Given the description of an element on the screen output the (x, y) to click on. 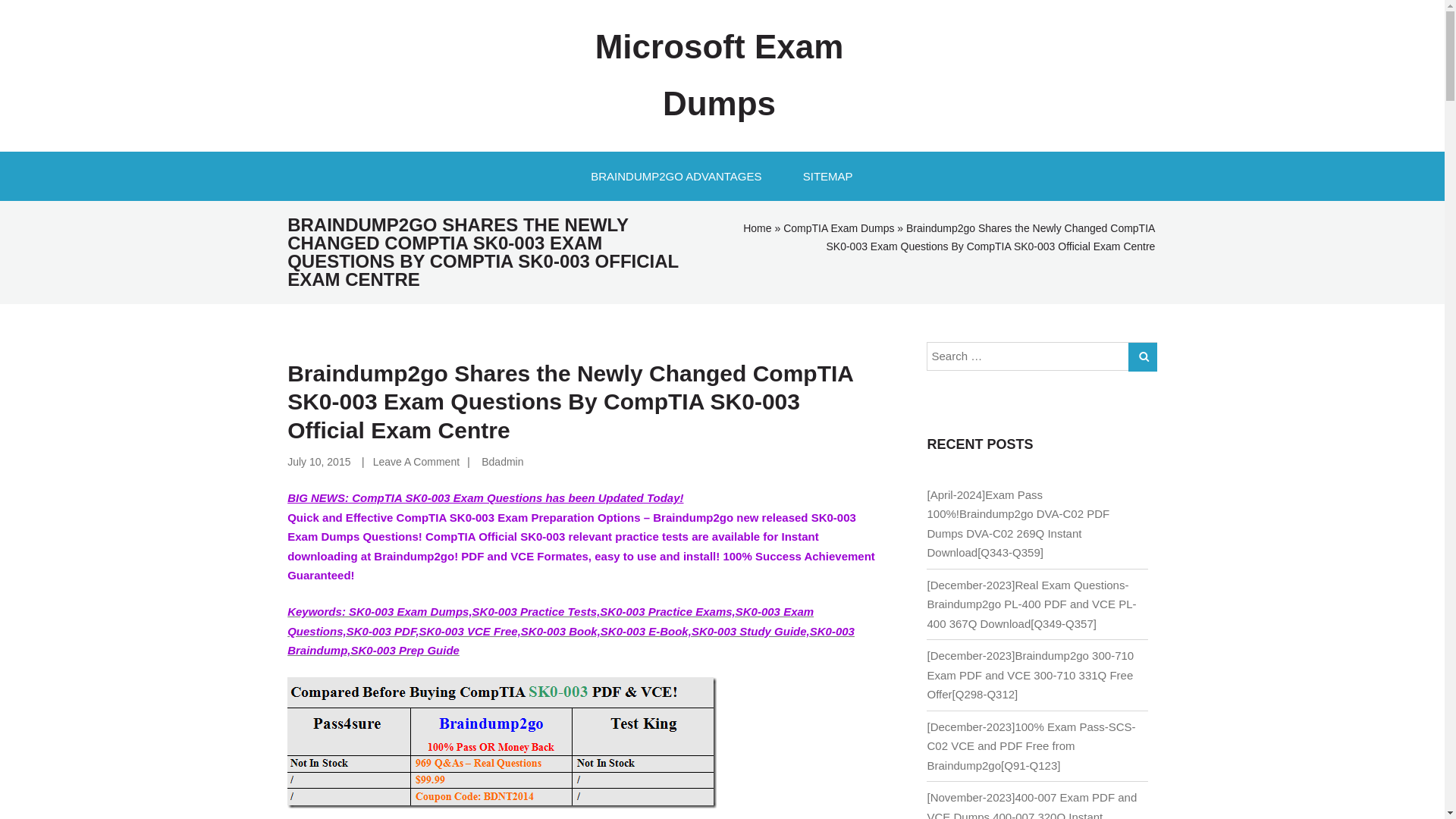
Search (1142, 357)
SITEMAP (828, 176)
Search (1142, 357)
Search (1142, 357)
Home (756, 227)
Microsoft Exam Dumps (719, 75)
BRAINDUMP2GO ADVANTAGES (676, 176)
CompTIA Exam Dumps (838, 227)
July 10, 2015 (318, 461)
Bdadmin (501, 461)
